Given the description of an element on the screen output the (x, y) to click on. 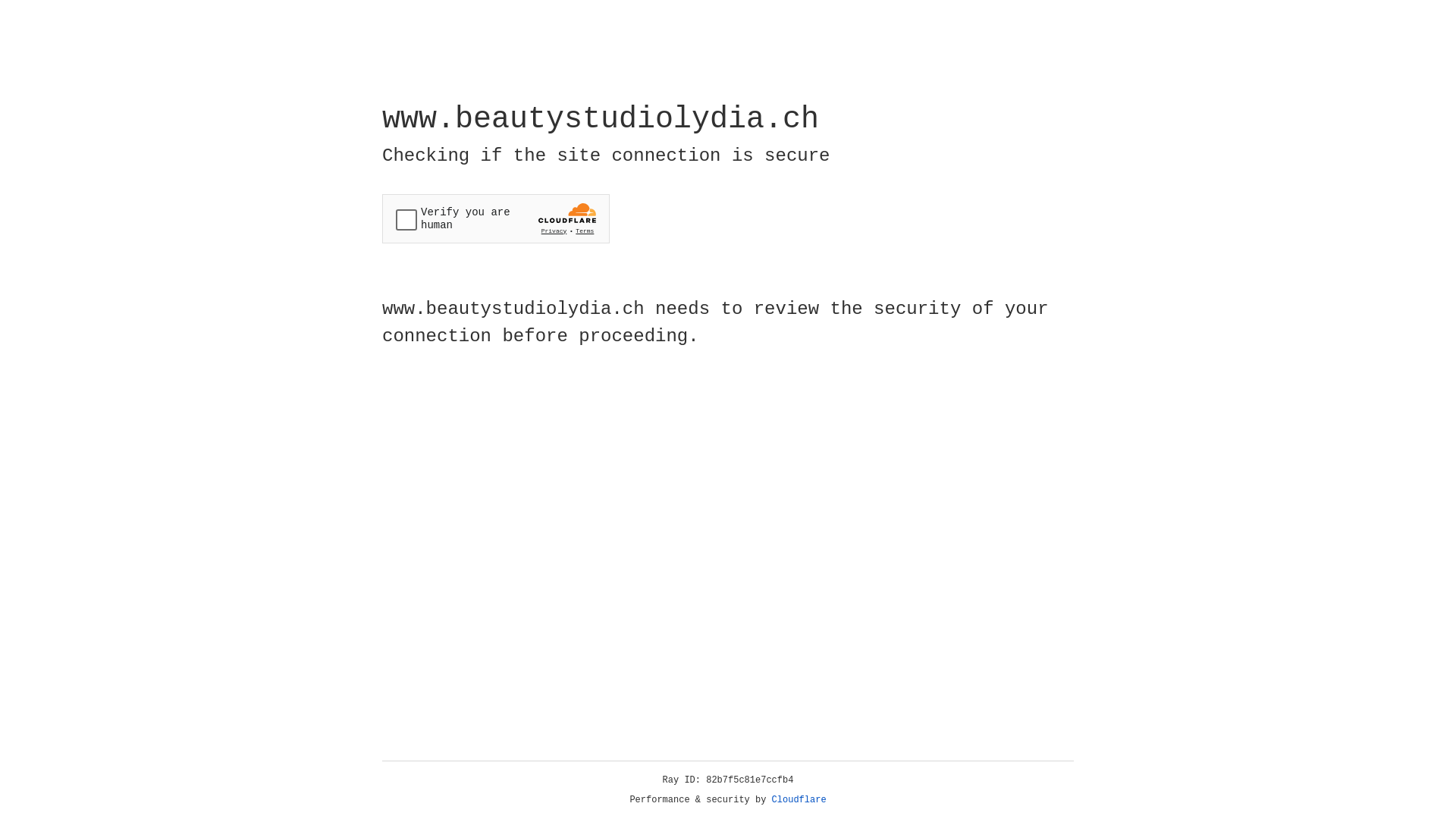
Widget containing a Cloudflare security challenge Element type: hover (495, 218)
Cloudflare Element type: text (798, 799)
